Given the description of an element on the screen output the (x, y) to click on. 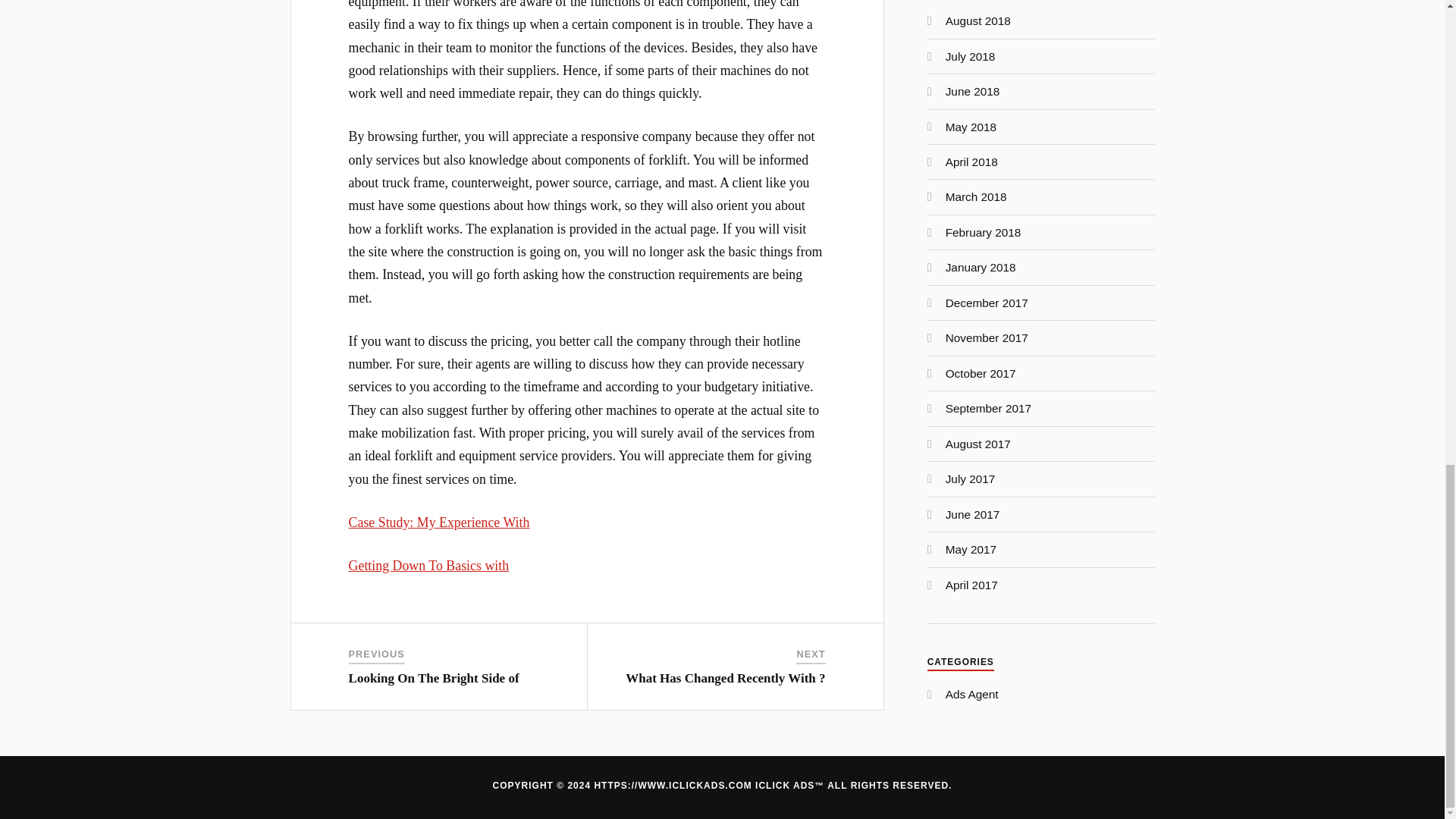
What Has Changed Recently With ? (725, 677)
July 2018 (969, 56)
Case Study: My Experience With (439, 522)
July 2017 (969, 478)
October 2017 (980, 373)
May 2018 (969, 126)
November 2017 (985, 337)
March 2018 (975, 196)
February 2018 (983, 232)
Getting Down To Basics with (429, 565)
Looking On The Bright Side of (434, 677)
August 2017 (977, 443)
September 2017 (987, 408)
April 2018 (970, 161)
January 2018 (980, 267)
